Given the description of an element on the screen output the (x, y) to click on. 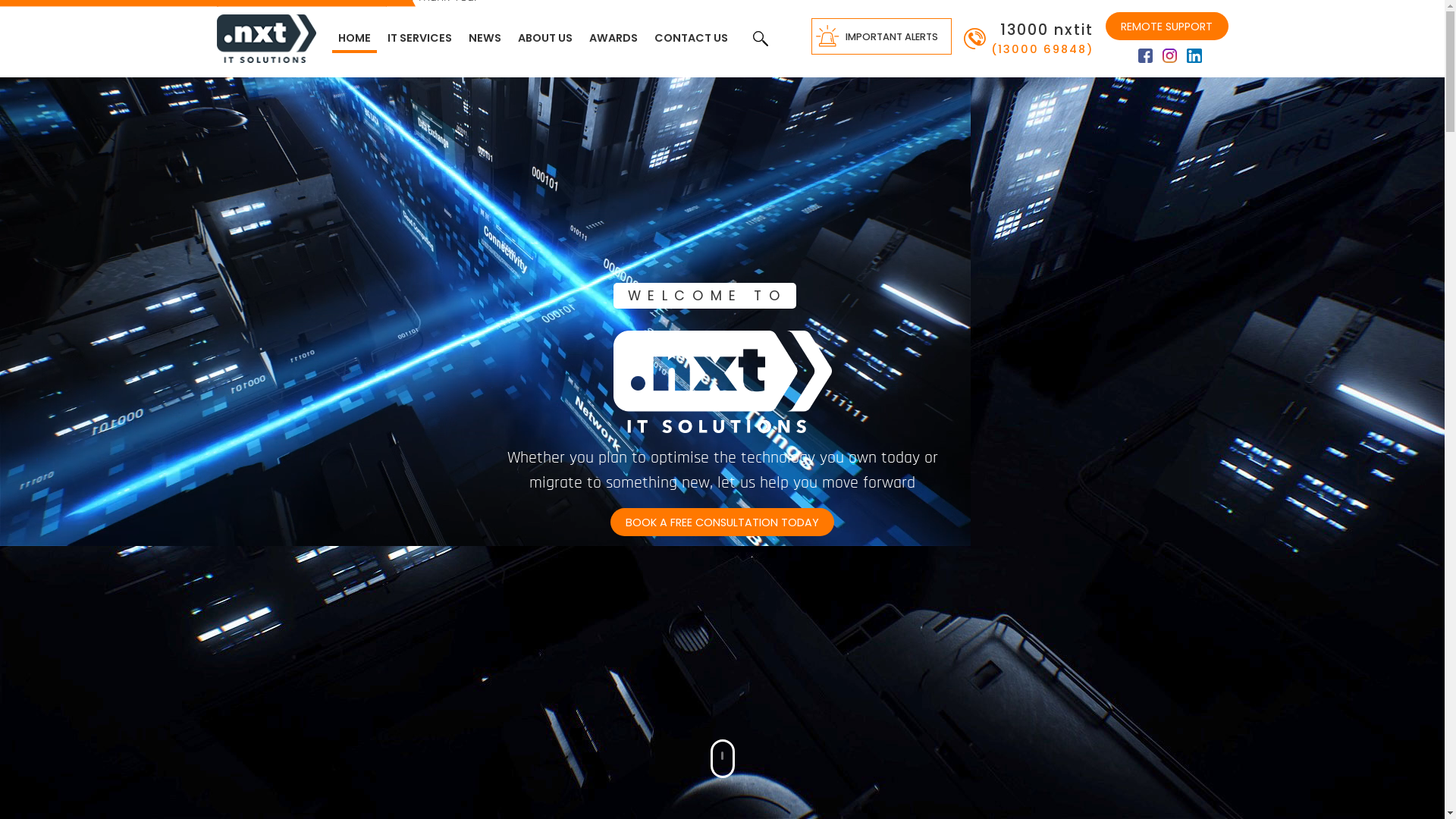
NEWS Element type: text (484, 38)
Facebook Element type: hover (1145, 55)
wpforms-submit Element type: text (721, 62)
wpforms-submit Element type: text (723, 48)
REMOTE SUPPORT Element type: text (1166, 26)
IT SERVICES Element type: text (419, 38)
ABOUT US Element type: text (544, 38)
13000 nxtit
(13000 69848) Element type: text (1028, 37)
HOME Element type: text (354, 38)
LinkedIn Element type: hover (1193, 55)
Instagram Element type: hover (1169, 55)
BOOK A FREE CONSULTATION TODAY Element type: text (722, 522)
AWARDS Element type: text (613, 38)
CONTACT US Element type: text (691, 38)
IMPORTANT ALERTS Element type: text (881, 36)
